Given the description of an element on the screen output the (x, y) to click on. 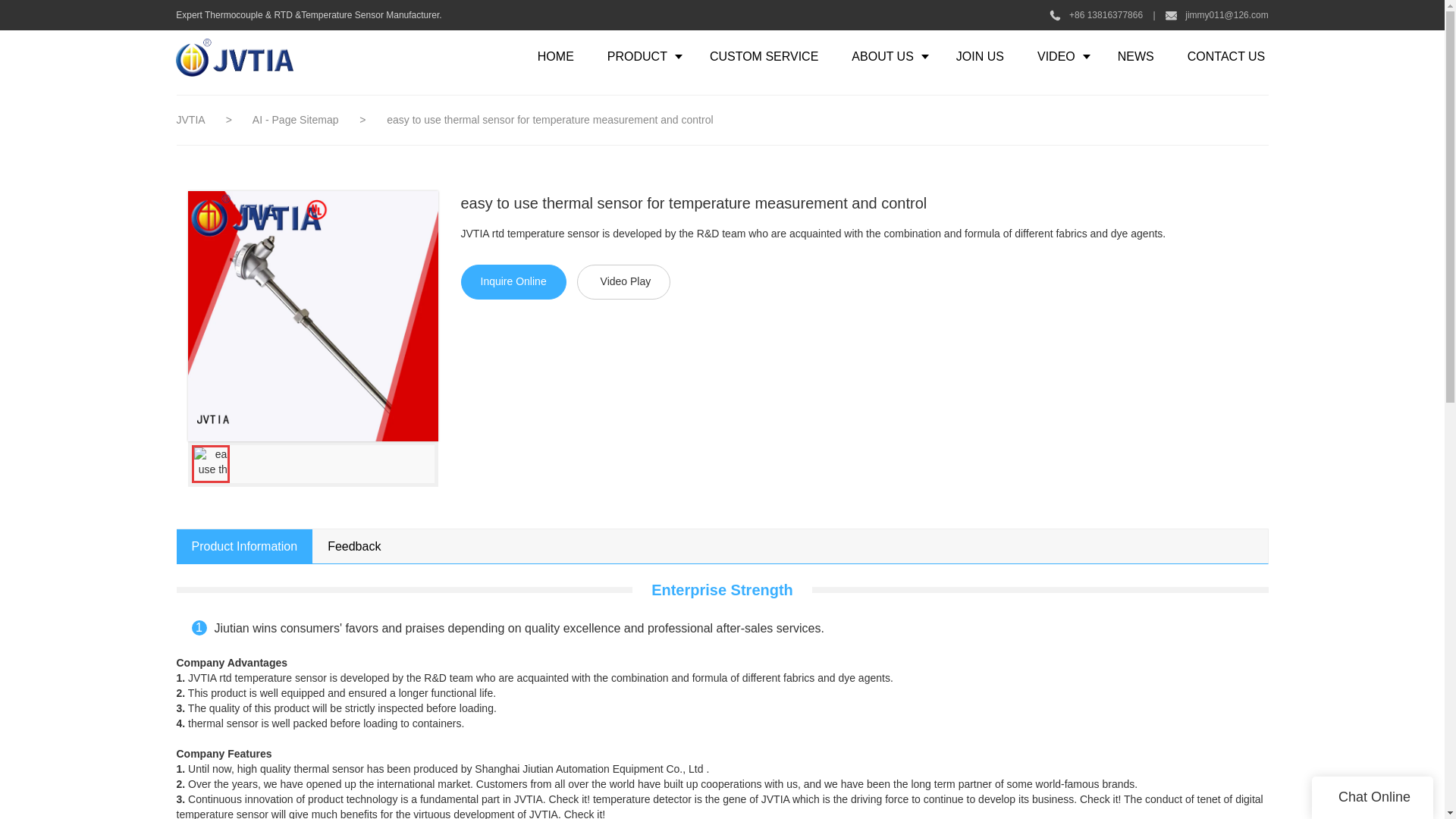
VIDEO (1060, 56)
PRODUCT (642, 56)
JOIN US (979, 56)
ABOUT US (886, 56)
CUSTOM SERVICE (763, 56)
NEWS (1135, 56)
HOME (556, 56)
